Given the description of an element on the screen output the (x, y) to click on. 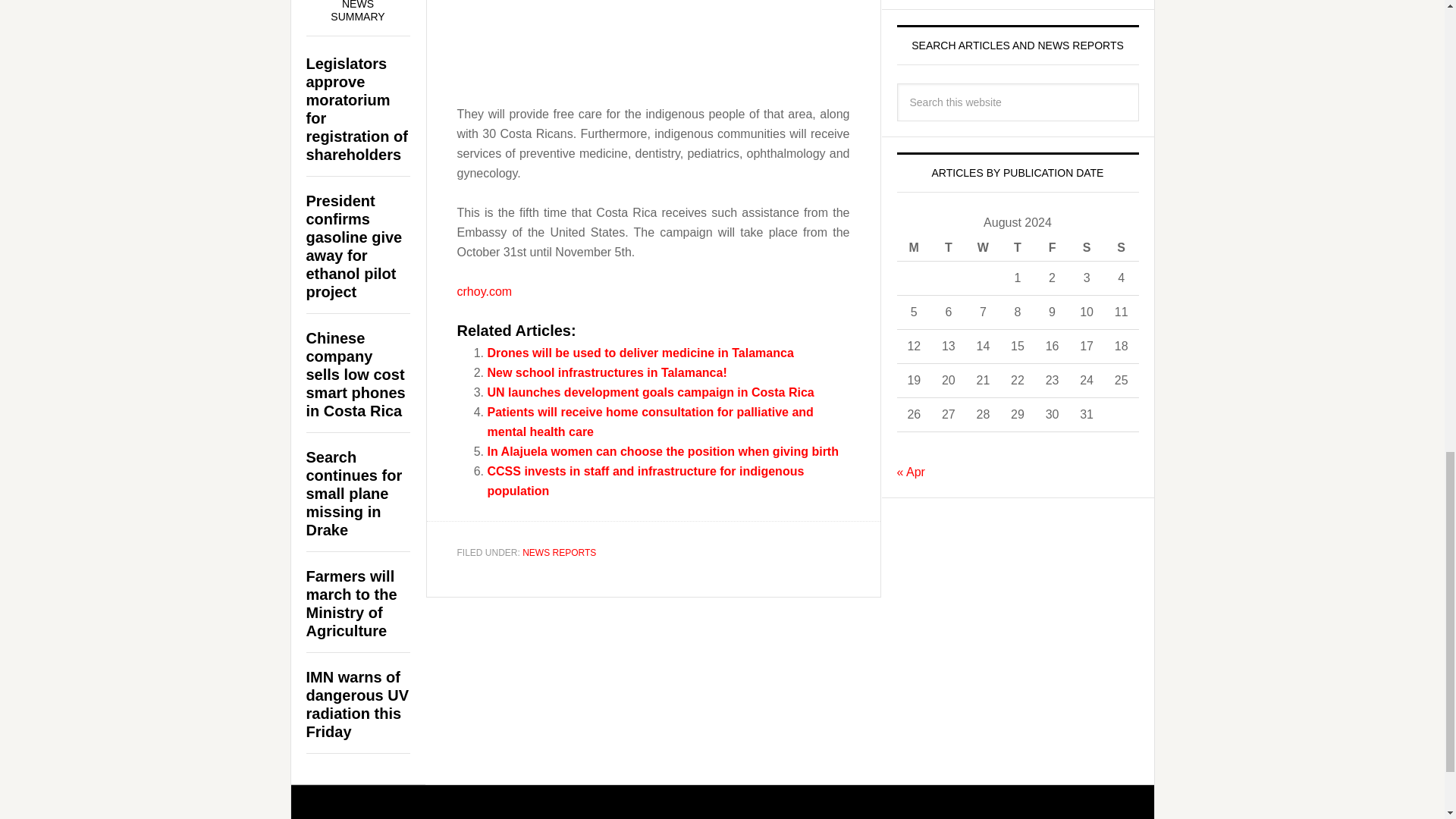
Advertisement (652, 38)
Friday (1052, 248)
NEWS REPORTS (558, 552)
Drones will be used to deliver medicine in Talamanca (639, 352)
Wednesday (983, 248)
